Given the description of an element on the screen output the (x, y) to click on. 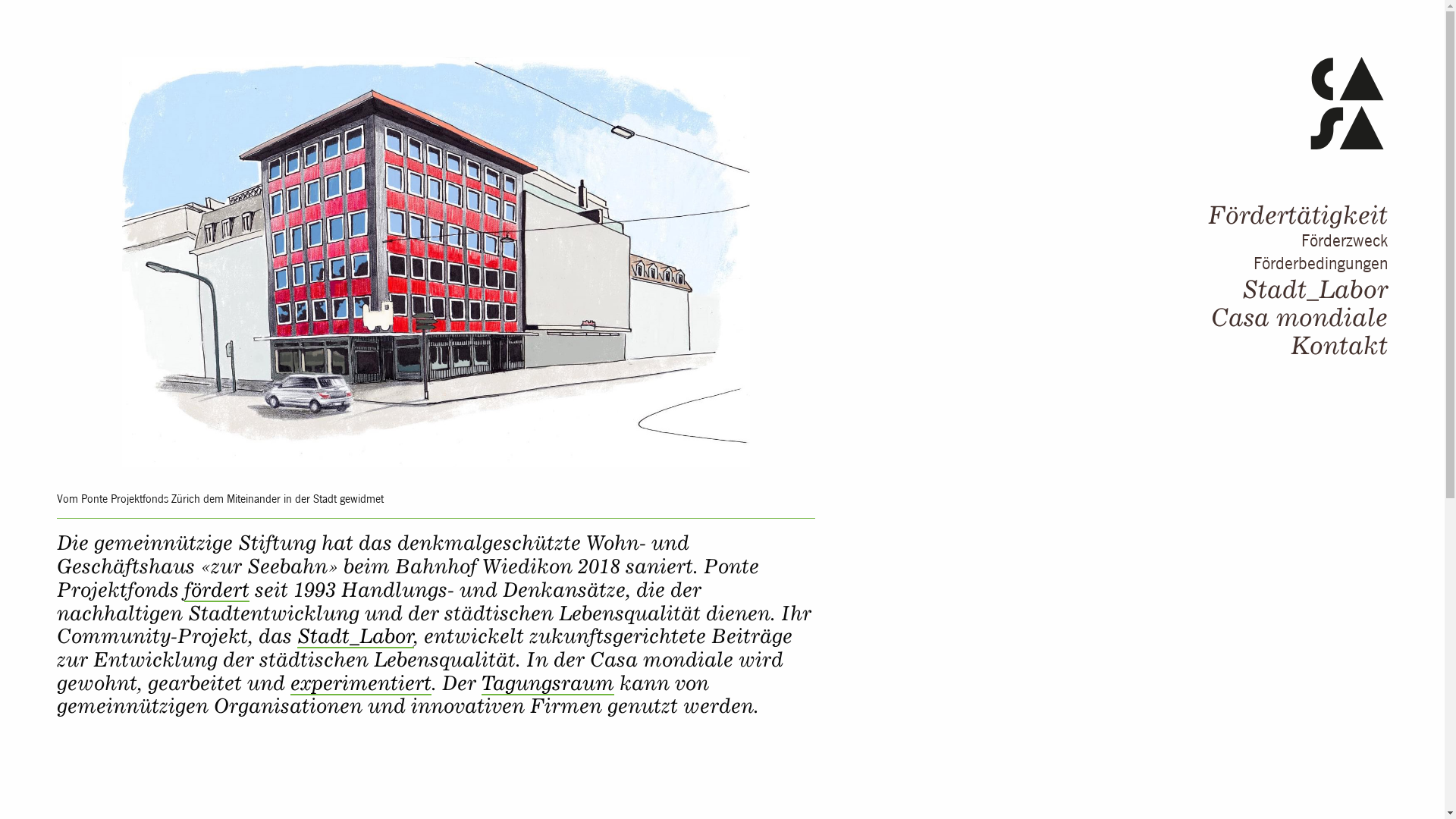
Casa mondiale Element type: text (1299, 316)
Tagungsraum Element type: text (547, 683)
Stadt_Labor Element type: text (355, 636)
Kontakt Element type: text (1338, 344)
experimentiert Element type: text (360, 683)
Stadt_Labor Element type: text (1314, 288)
